Given the description of an element on the screen output the (x, y) to click on. 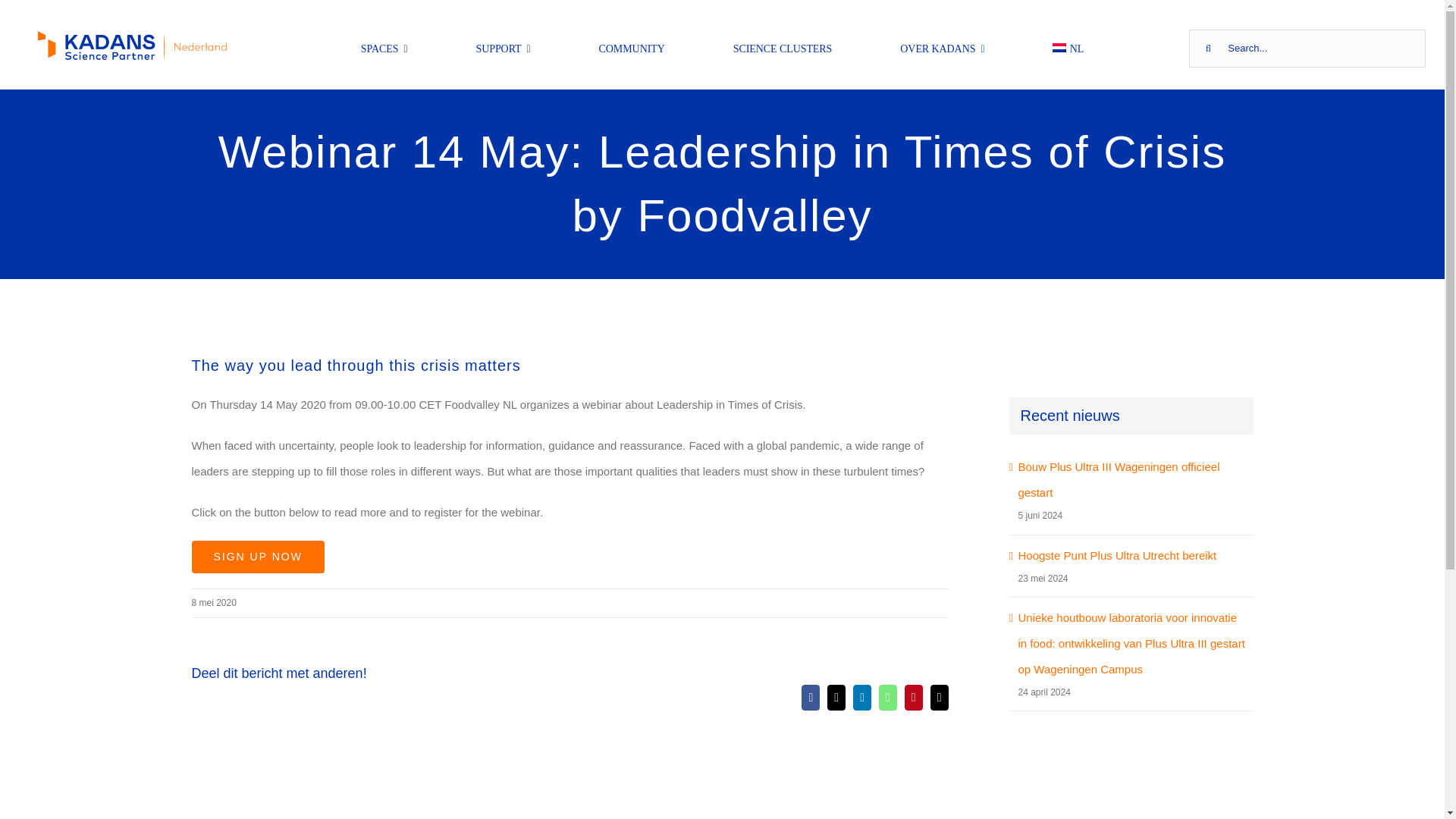
COMMUNITY (631, 48)
SCIENCE CLUSTERS (782, 48)
OVER KADANS (941, 48)
Hoogste Punt Plus Ultra Utrecht bereikt (1116, 554)
SPACES (384, 48)
Bouw Plus Ultra III Wageningen officieel gestart (1118, 479)
SIGN UP NOW (256, 556)
SUPPORT (502, 48)
